Given the description of an element on the screen output the (x, y) to click on. 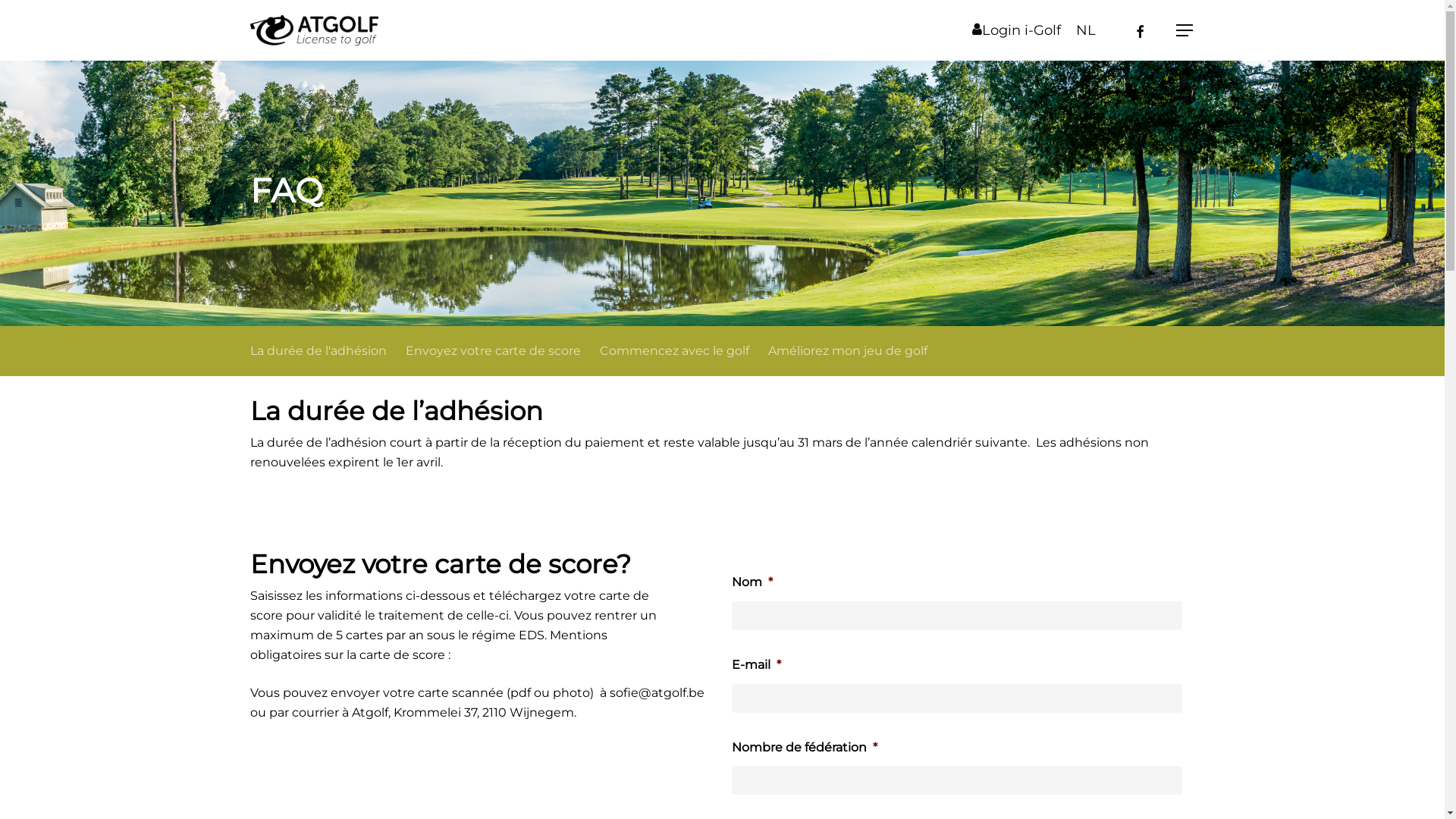
Commencez avec le golf Element type: text (674, 351)
Menu Element type: text (1185, 30)
NL Element type: text (1085, 29)
Envoyez votre carte de score Element type: text (492, 351)
facebook Element type: text (1139, 29)
Login i-Golf Element type: text (1016, 29)
